Given the description of an element on the screen output the (x, y) to click on. 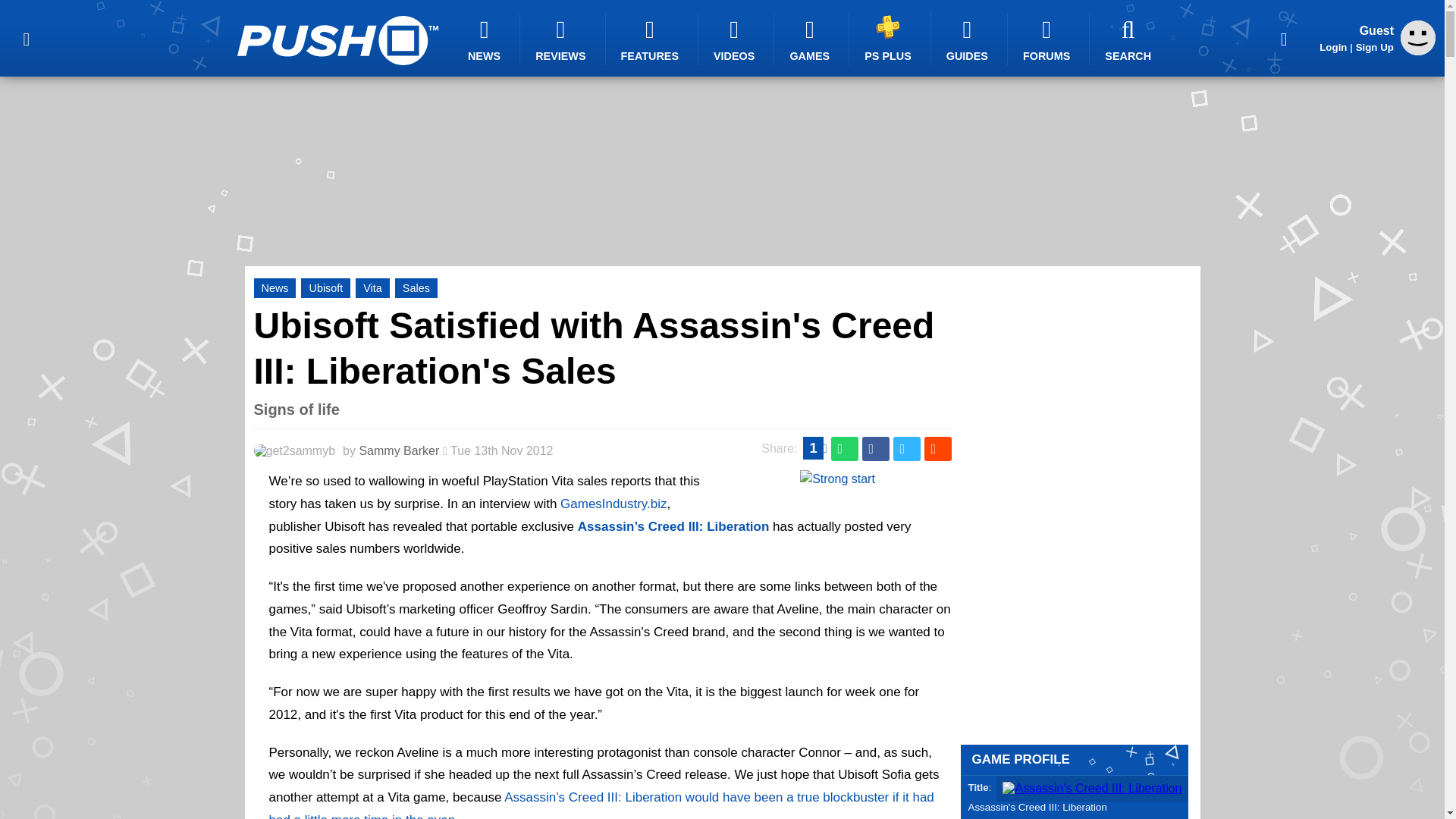
NEWS (485, 39)
GAMES (811, 39)
VIDEOS (736, 39)
Strong start (837, 478)
SEARCH (1129, 39)
Share this on Reddit (936, 448)
News (274, 288)
PS PLUS (889, 38)
Ubisoft (325, 288)
REVIEWS (562, 39)
Sammy Barker (398, 450)
FORUMS (1048, 39)
Sign Up (1374, 47)
Guest (1417, 51)
Share this on Facebook (874, 448)
